Given the description of an element on the screen output the (x, y) to click on. 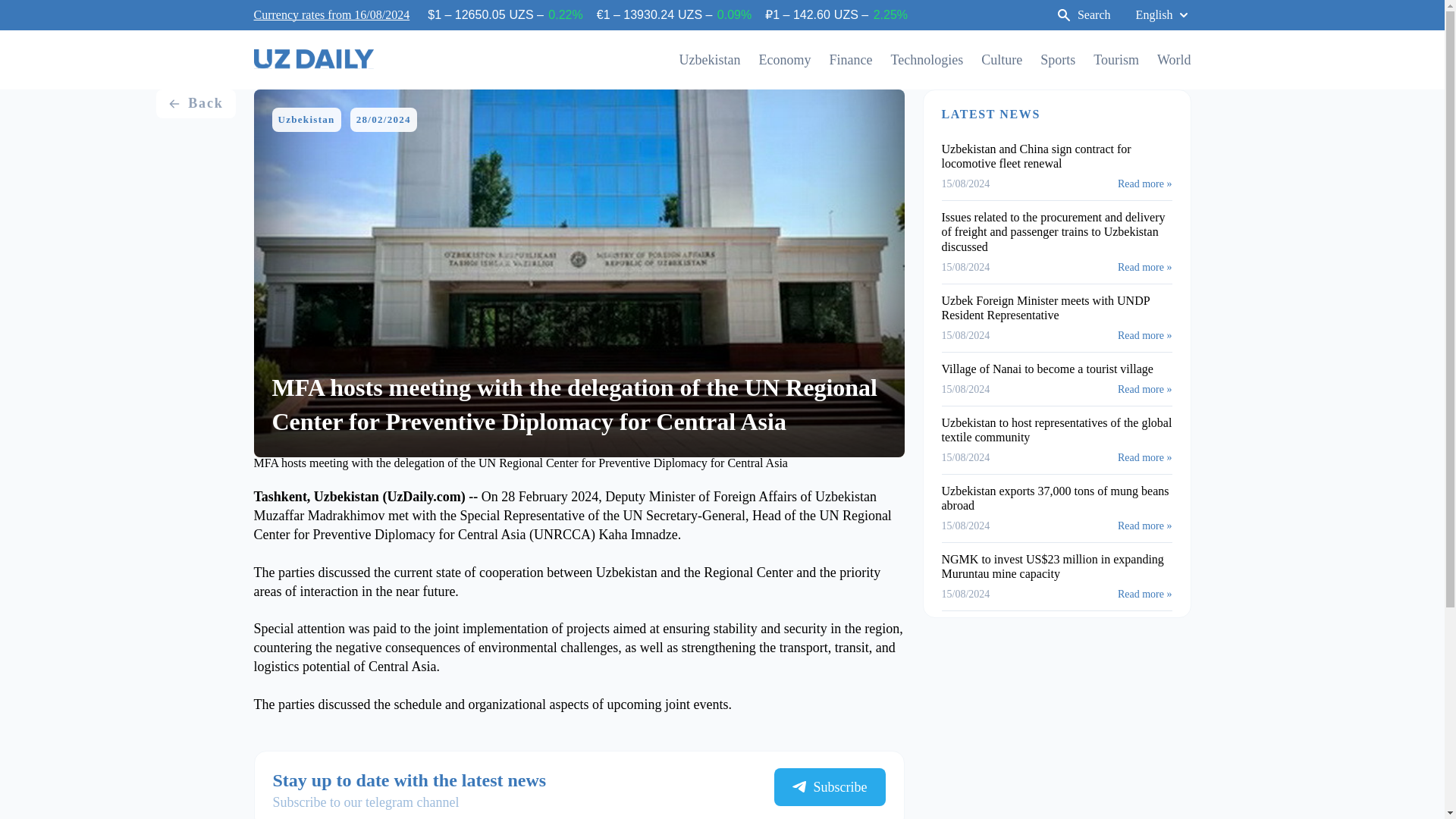
Village of Nanai to become a tourist village (1047, 368)
Uzbekistan (710, 59)
Technologies (925, 59)
Back (194, 103)
Subscribe (829, 786)
Search (1082, 14)
